Given the description of an element on the screen output the (x, y) to click on. 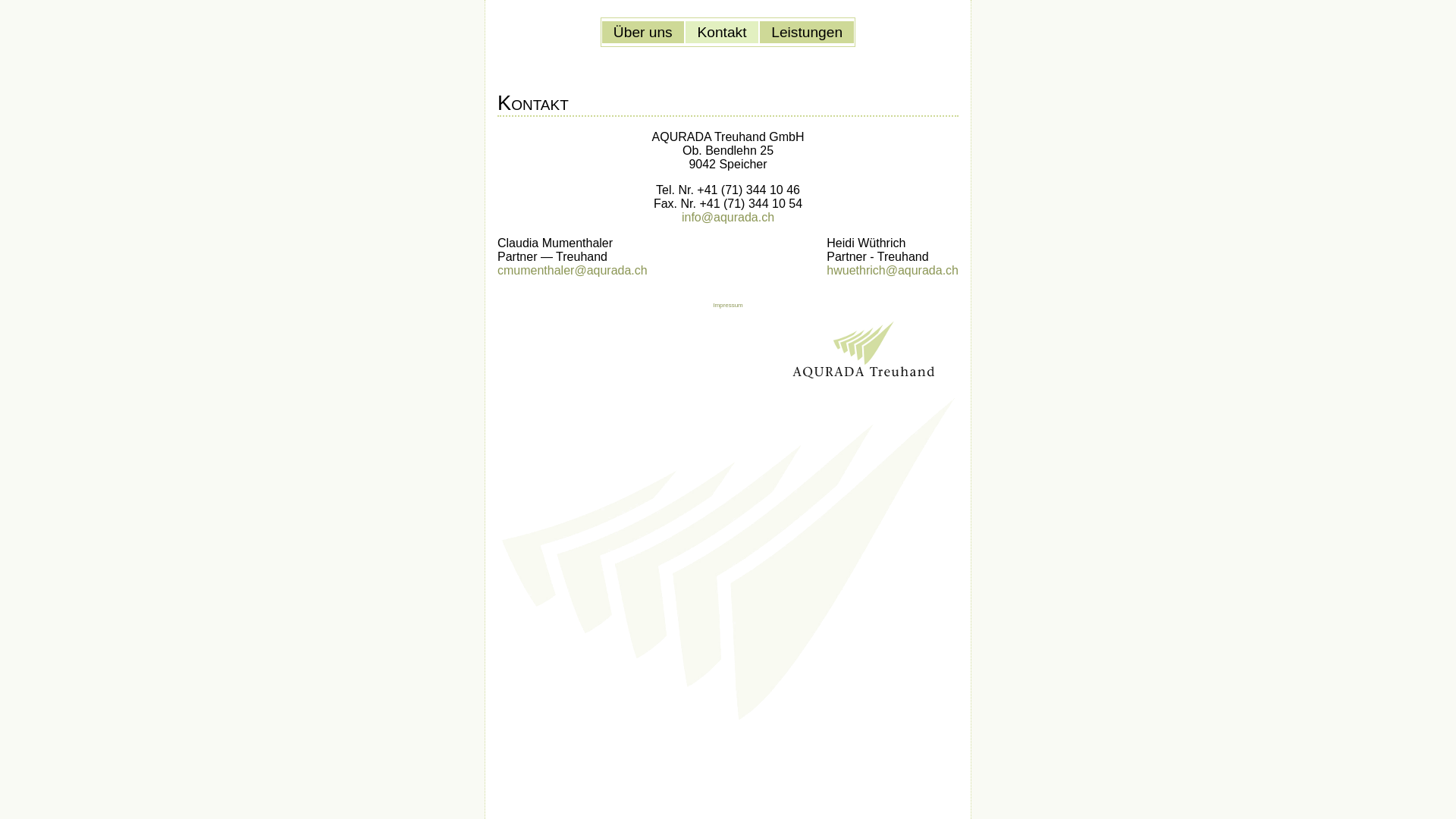
Impressum Element type: text (727, 304)
Leistungen Element type: text (806, 32)
info@aqurada.ch Element type: text (727, 216)
cmumenthaler@aqurada.ch Element type: text (572, 269)
hwuethrich@aqurada.ch Element type: text (892, 269)
